Given the description of an element on the screen output the (x, y) to click on. 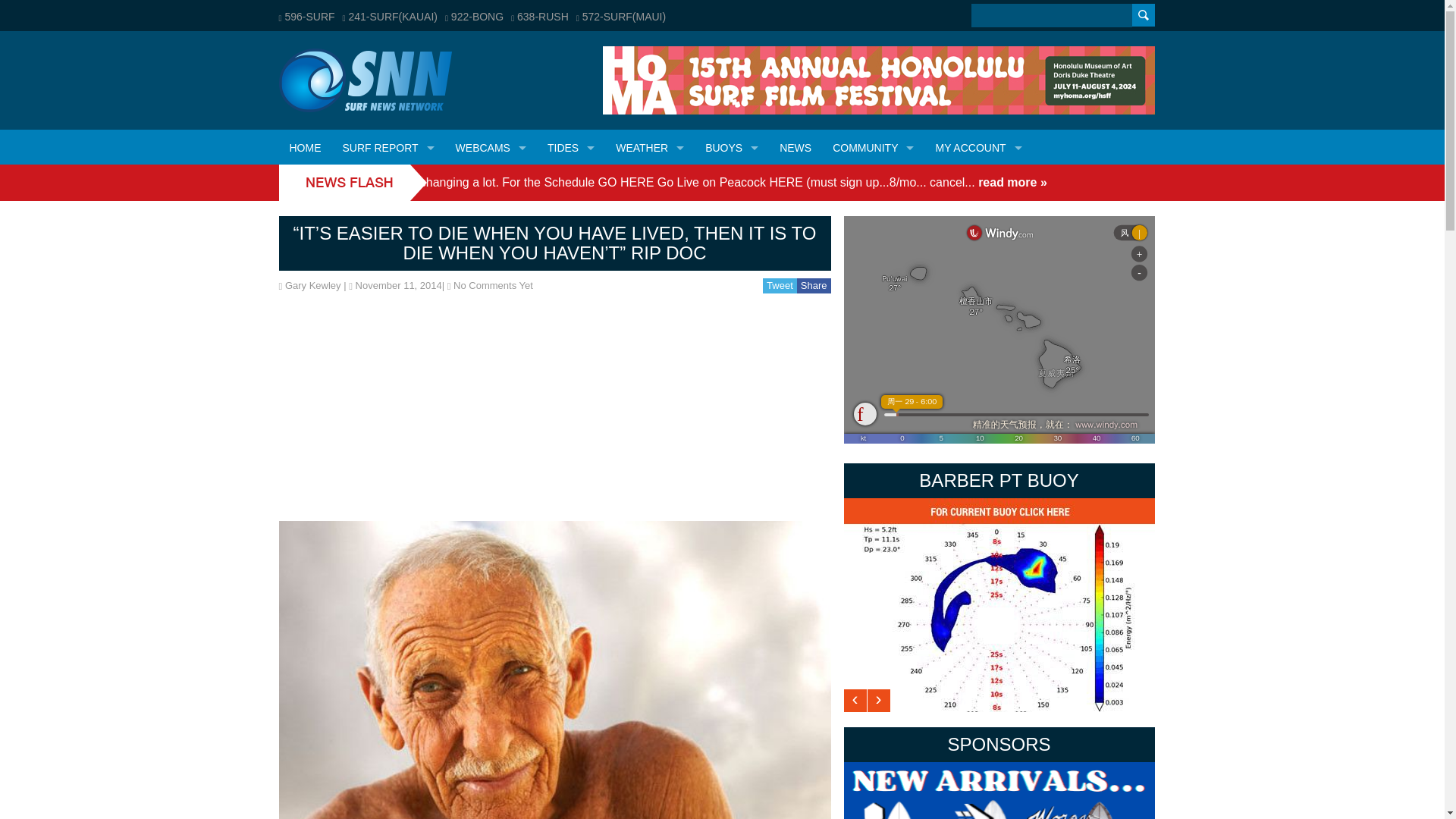
SURF REPORT (388, 147)
922-BONG (474, 16)
638-RUSH (540, 16)
Advertisement (555, 414)
596-SURF (306, 16)
View all articles by Gary Kewley (312, 285)
HOME (305, 147)
